Given the description of an element on the screen output the (x, y) to click on. 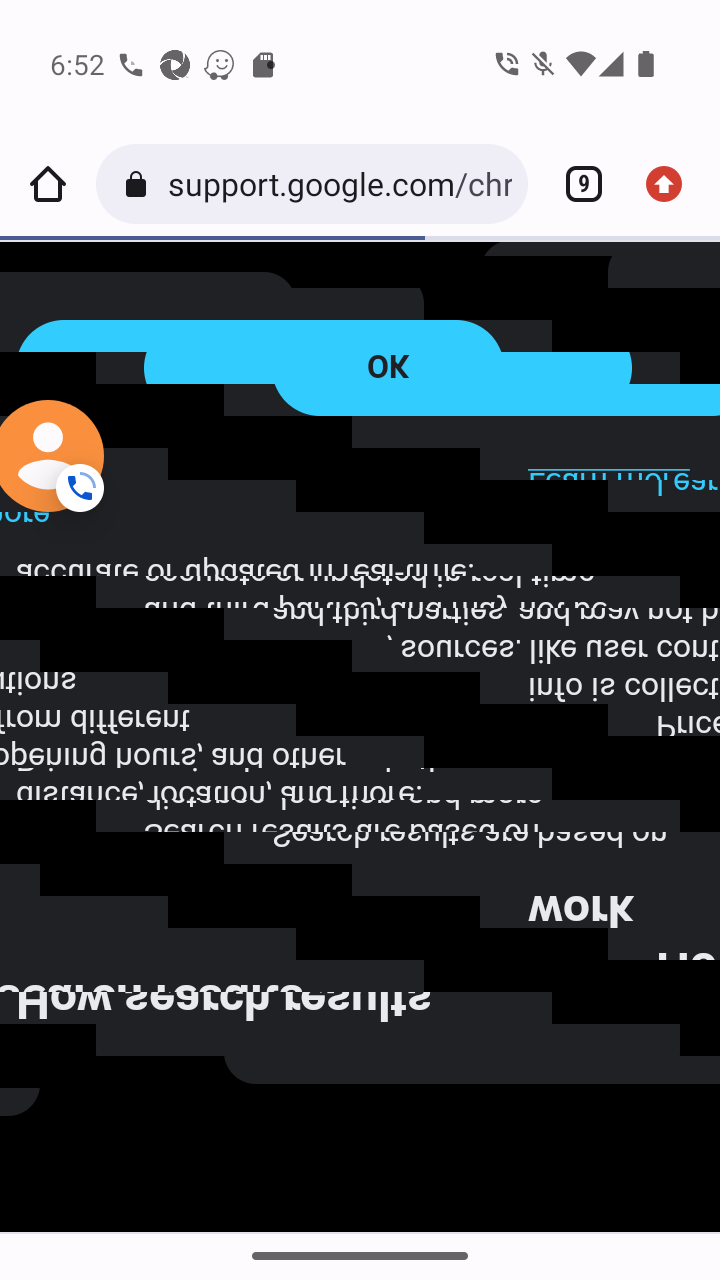
Home (47, 184)
Connection is secure (139, 184)
Switch or close tabs (575, 184)
Update available. More options (672, 184)
